Given the description of an element on the screen output the (x, y) to click on. 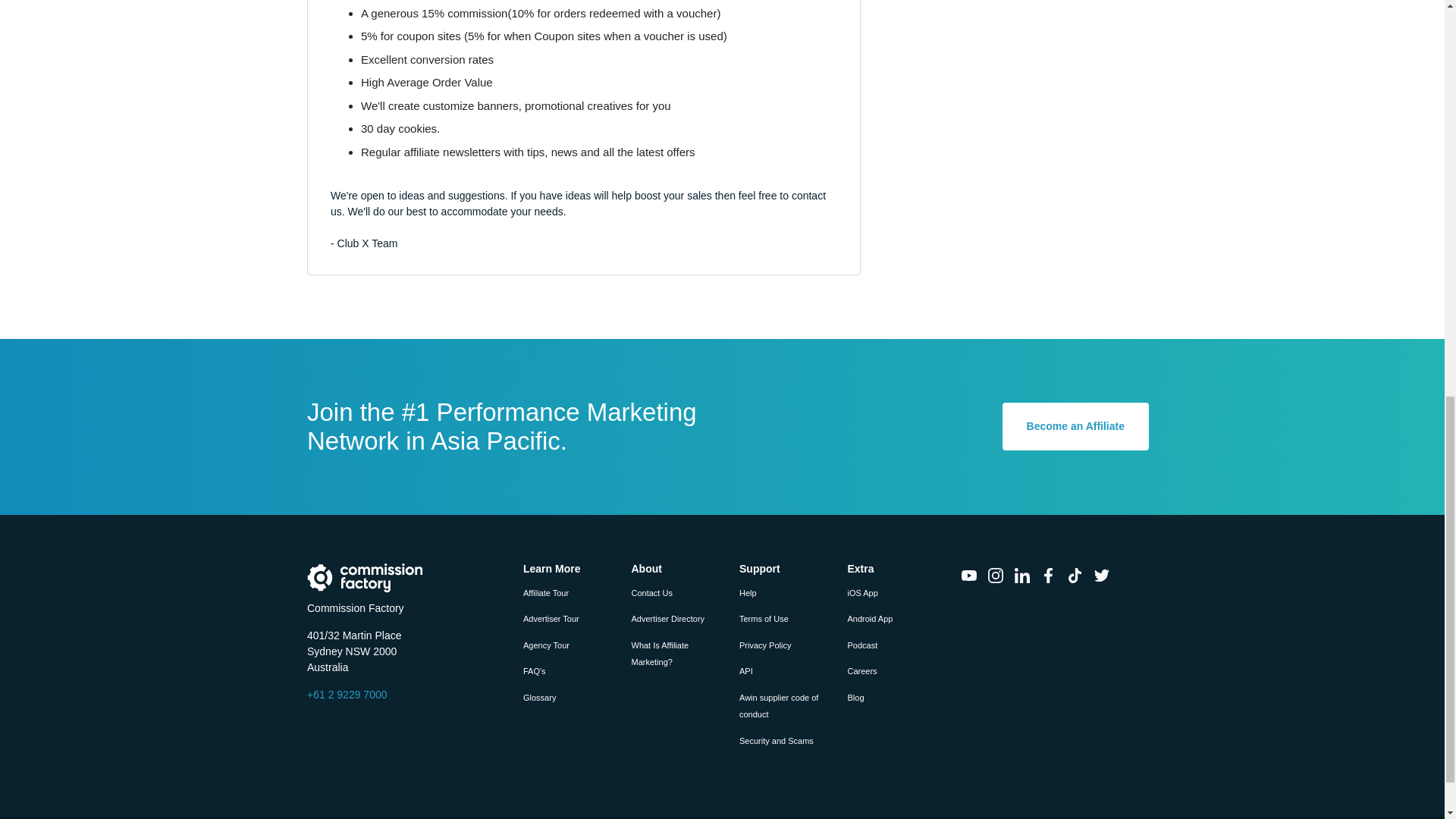
Agency Tour (545, 645)
Advertiser Tour (550, 618)
Commission Factory - Part of Awin (365, 577)
Become an Affiliate (1075, 426)
Glossary (539, 696)
Help (748, 592)
Affiliate Tour (545, 592)
What Is Affiliate Marketing? (659, 653)
Advertiser Directory (667, 618)
Contact Us (650, 592)
FAQ's (534, 670)
